Given the description of an element on the screen output the (x, y) to click on. 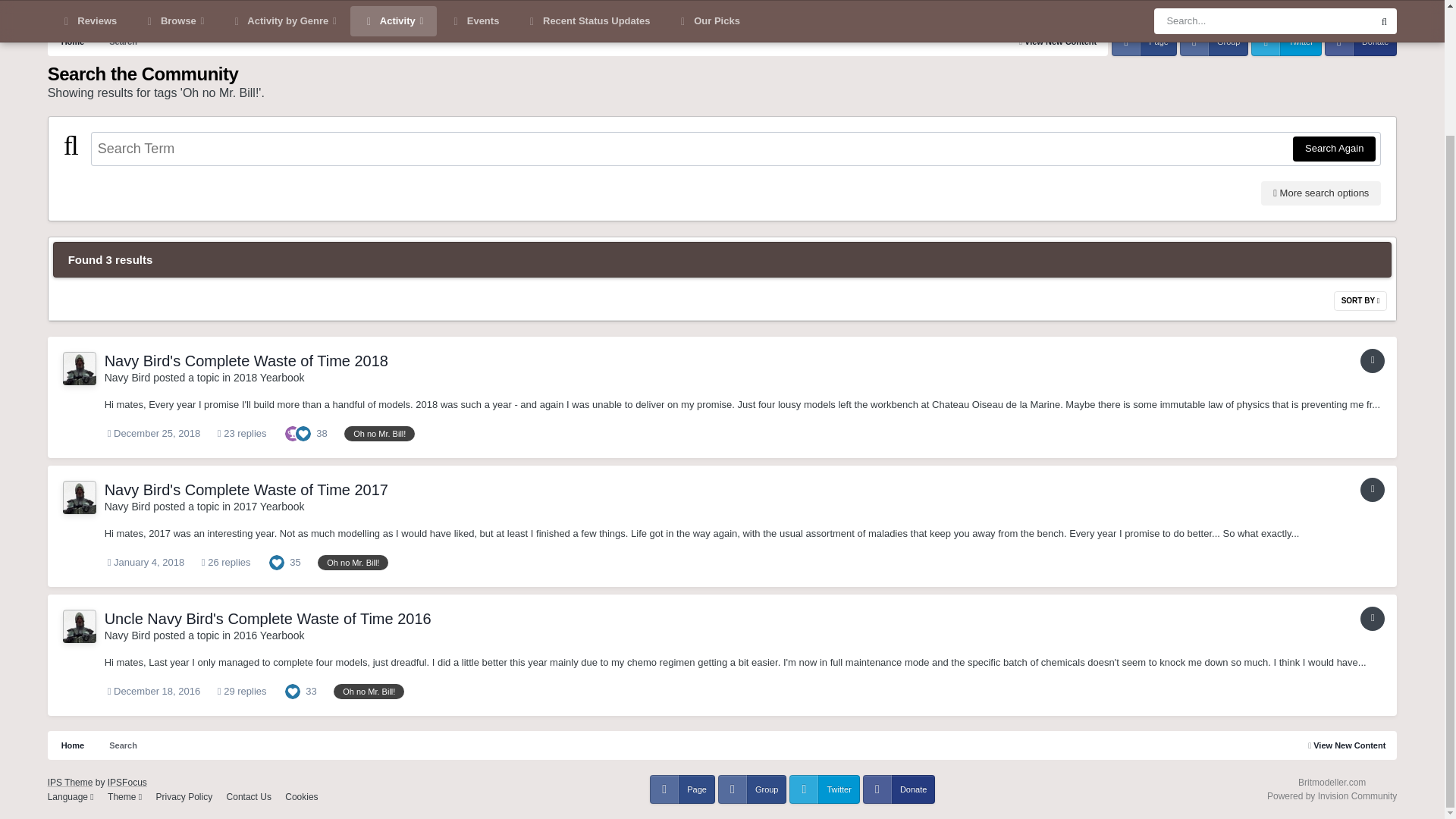
Go to Navy Bird's profile (79, 368)
Topic (1371, 360)
Browse (173, 6)
Topic (1371, 618)
Activity by Genre (282, 6)
Recent Status Updates (587, 6)
Find other content tagged with 'Oh no Mr. Bill!' (378, 433)
Topic (1371, 489)
Like (276, 562)
Like (303, 432)
Go to Navy Bird's profile (127, 506)
Activity (393, 6)
Reviews (89, 6)
Go to Navy Bird's profile (127, 377)
Thanks (292, 432)
